Given the description of an element on the screen output the (x, y) to click on. 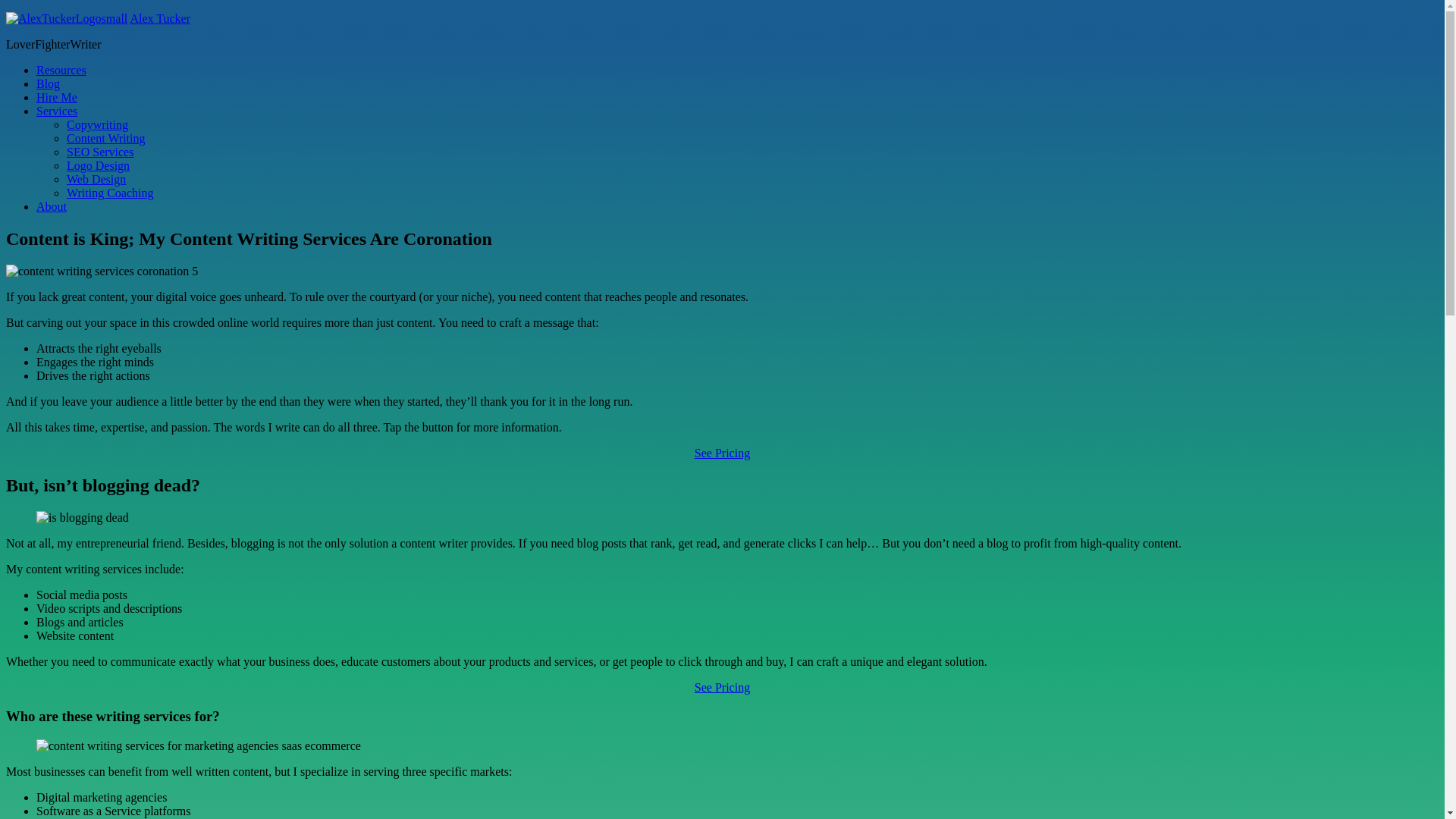
Logo Design Element type: text (97, 165)
Alex Tucker Element type: text (159, 18)
SEO Services Element type: text (99, 151)
Web Design Element type: text (95, 178)
Content Writing Element type: text (105, 137)
Writing Coaching Element type: text (109, 192)
Hire Me Element type: text (56, 97)
See Pricing Element type: text (721, 452)
About Element type: text (51, 206)
Blog Element type: text (47, 83)
Services Element type: text (56, 110)
See Pricing Element type: text (721, 686)
Resources Element type: text (61, 69)
Copywriting Element type: text (97, 124)
